Given the description of an element on the screen output the (x, y) to click on. 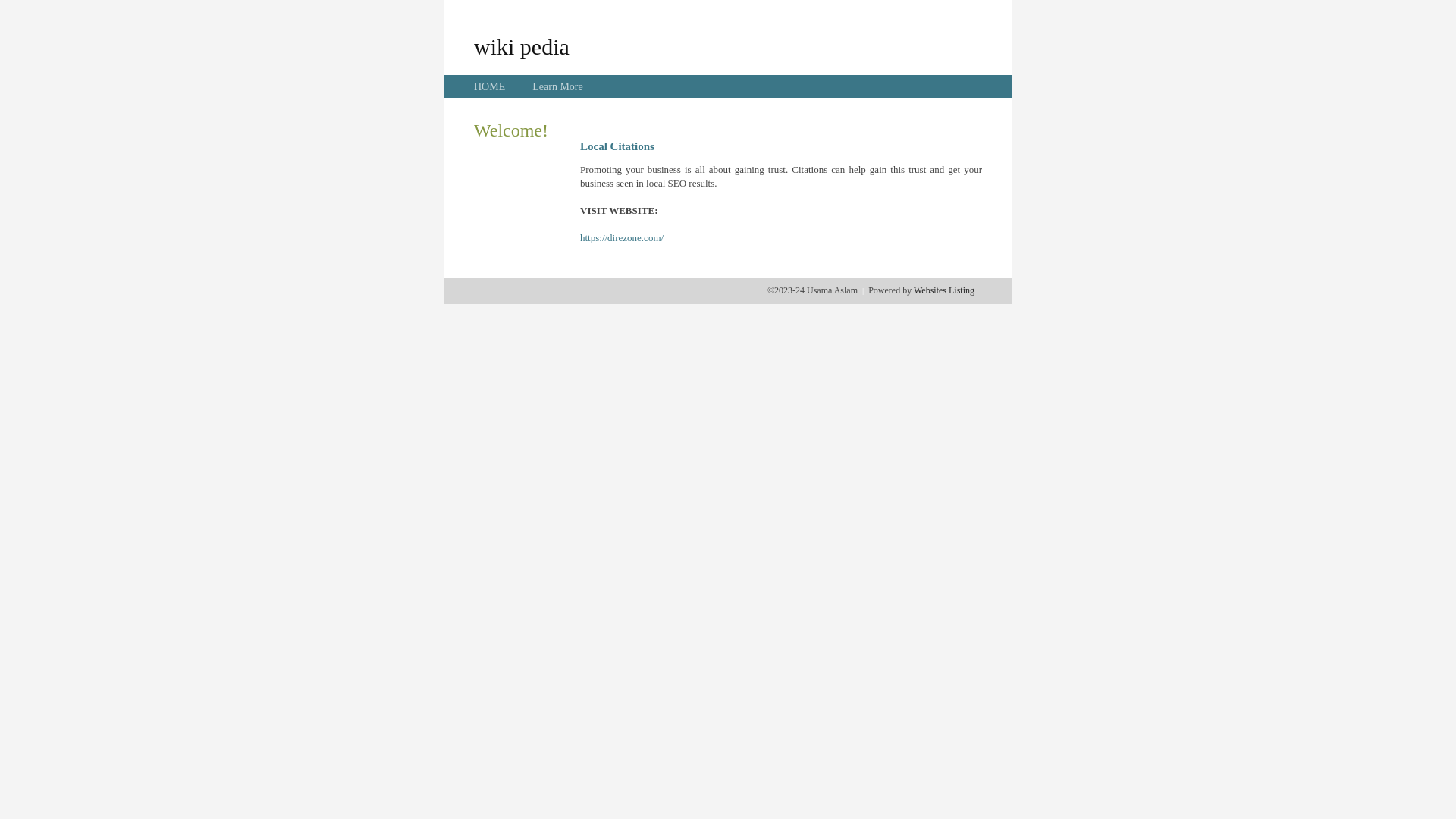
https://direzone.com/ Element type: text (621, 237)
wiki pedia Element type: text (521, 46)
HOME Element type: text (489, 86)
Learn More Element type: text (557, 86)
Websites Listing Element type: text (943, 290)
